Given the description of an element on the screen output the (x, y) to click on. 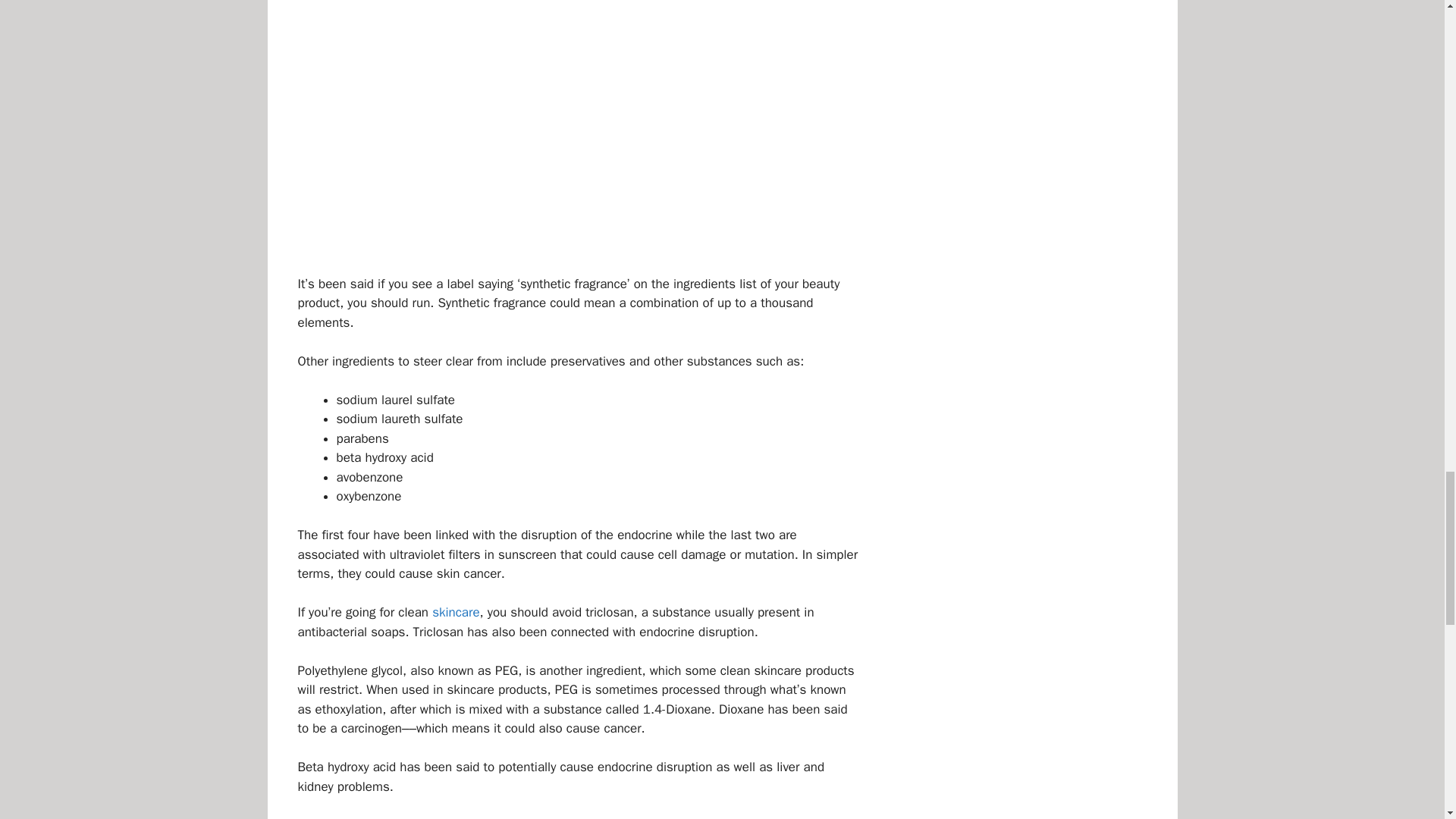
skincare (455, 611)
